Given the description of an element on the screen output the (x, y) to click on. 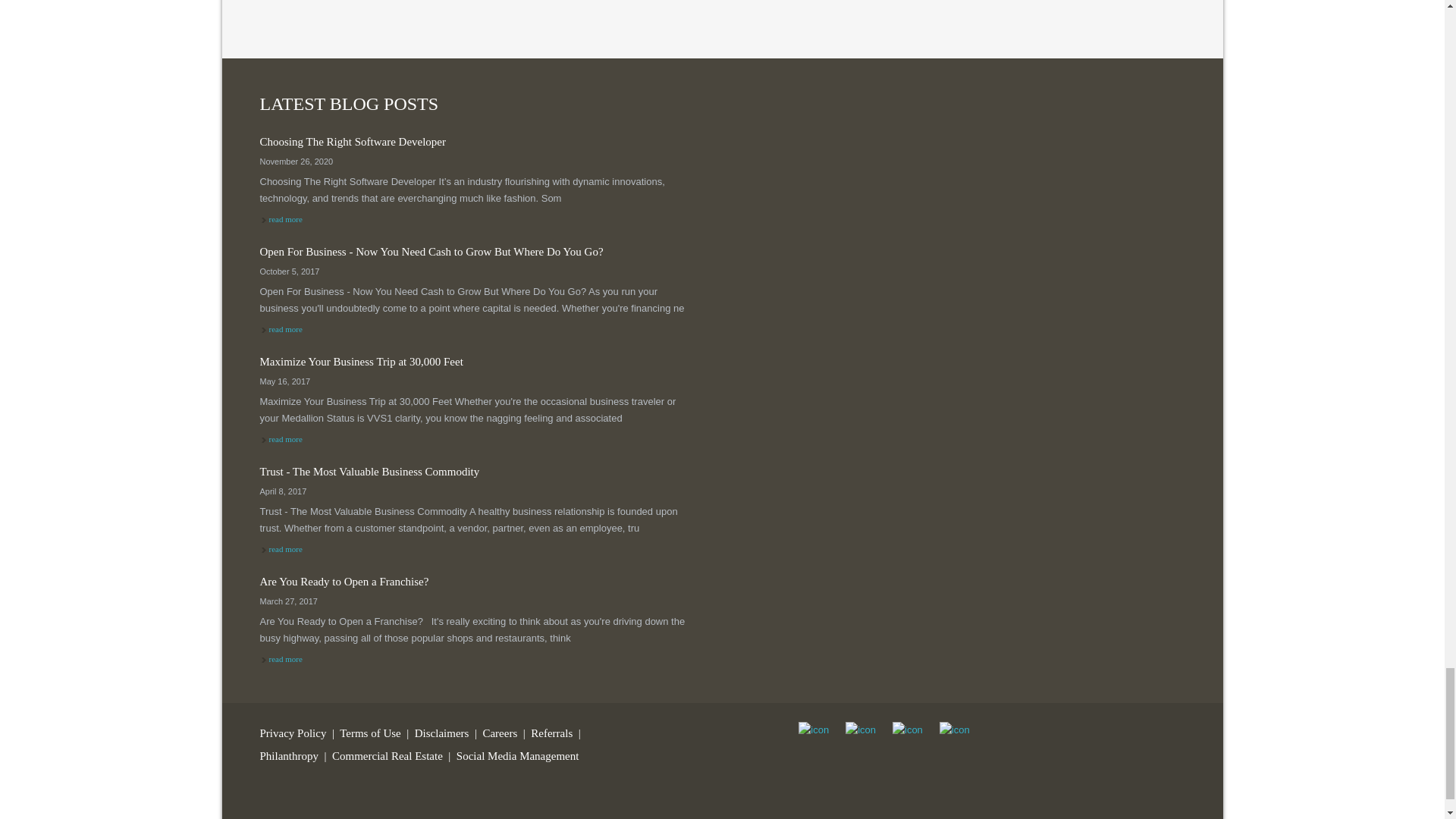
Referrals (551, 733)
read more (480, 148)
Commercial Real Estate (284, 548)
read more (386, 756)
Terms of Use (284, 438)
Privacy Policy (370, 733)
read more (480, 368)
Careers (292, 733)
